Given the description of an element on the screen output the (x, y) to click on. 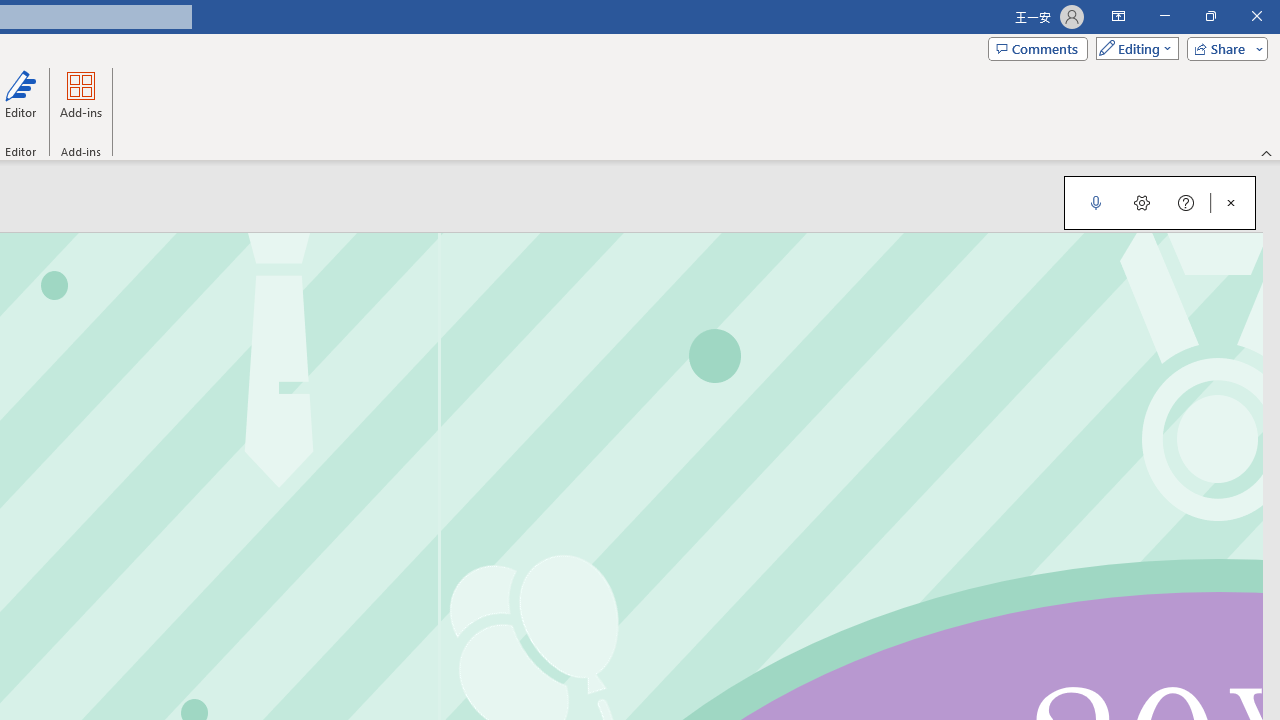
Help (1185, 202)
Close Dictation (1231, 202)
Class: MsoCommandBar (1159, 202)
